Given the description of an element on the screen output the (x, y) to click on. 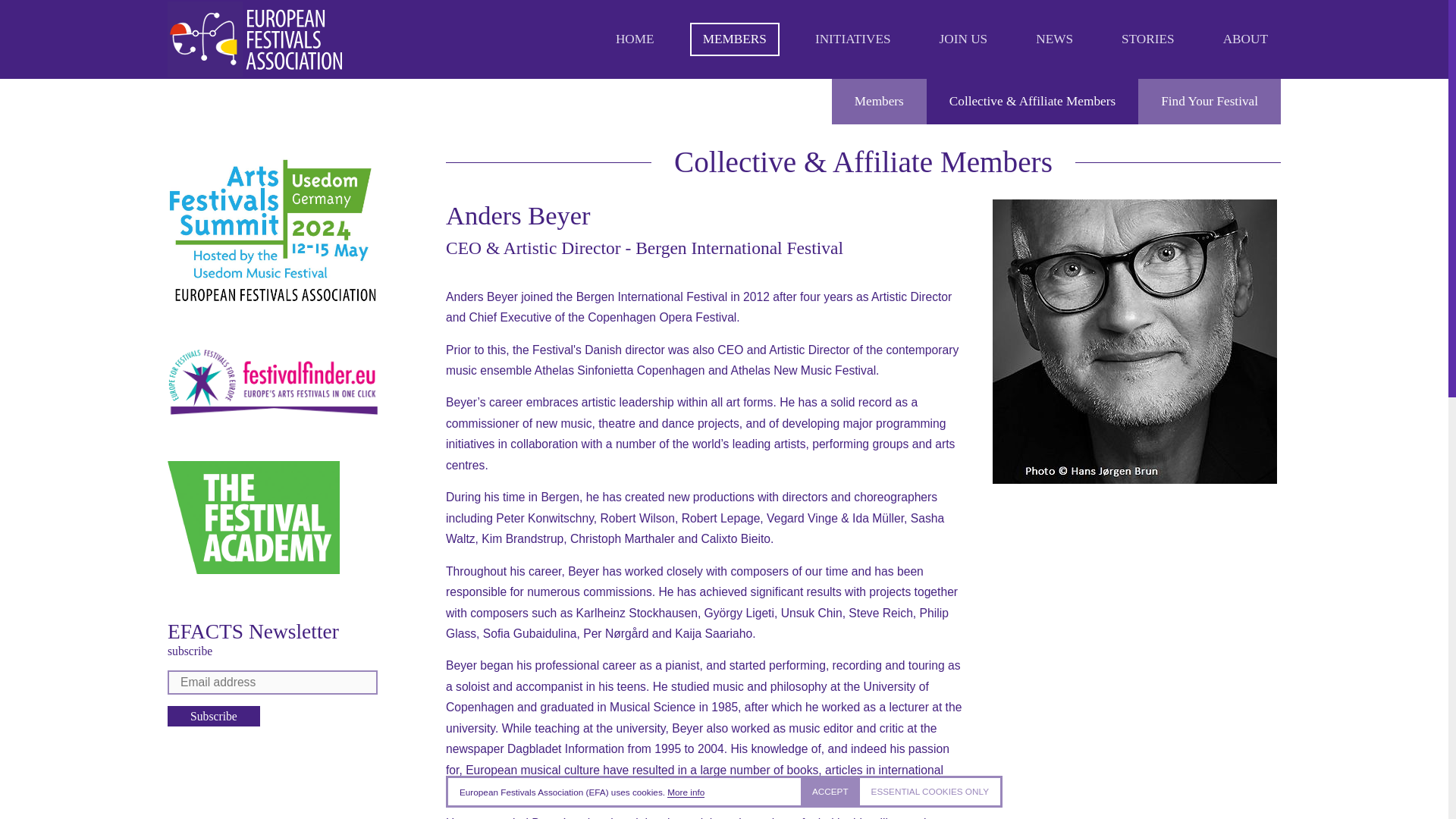
EFFE (272, 381)
European festivals Association (254, 38)
Members (878, 101)
European festivals Association (254, 38)
More info (685, 792)
More info (685, 792)
Find Your Festival (1209, 101)
ACCEPT (830, 791)
News (1054, 39)
NEWS (1054, 39)
Members (734, 39)
The Festival Academy (253, 517)
HOME (634, 39)
STORIES (1148, 39)
ABOUT (1245, 39)
